Given the description of an element on the screen output the (x, y) to click on. 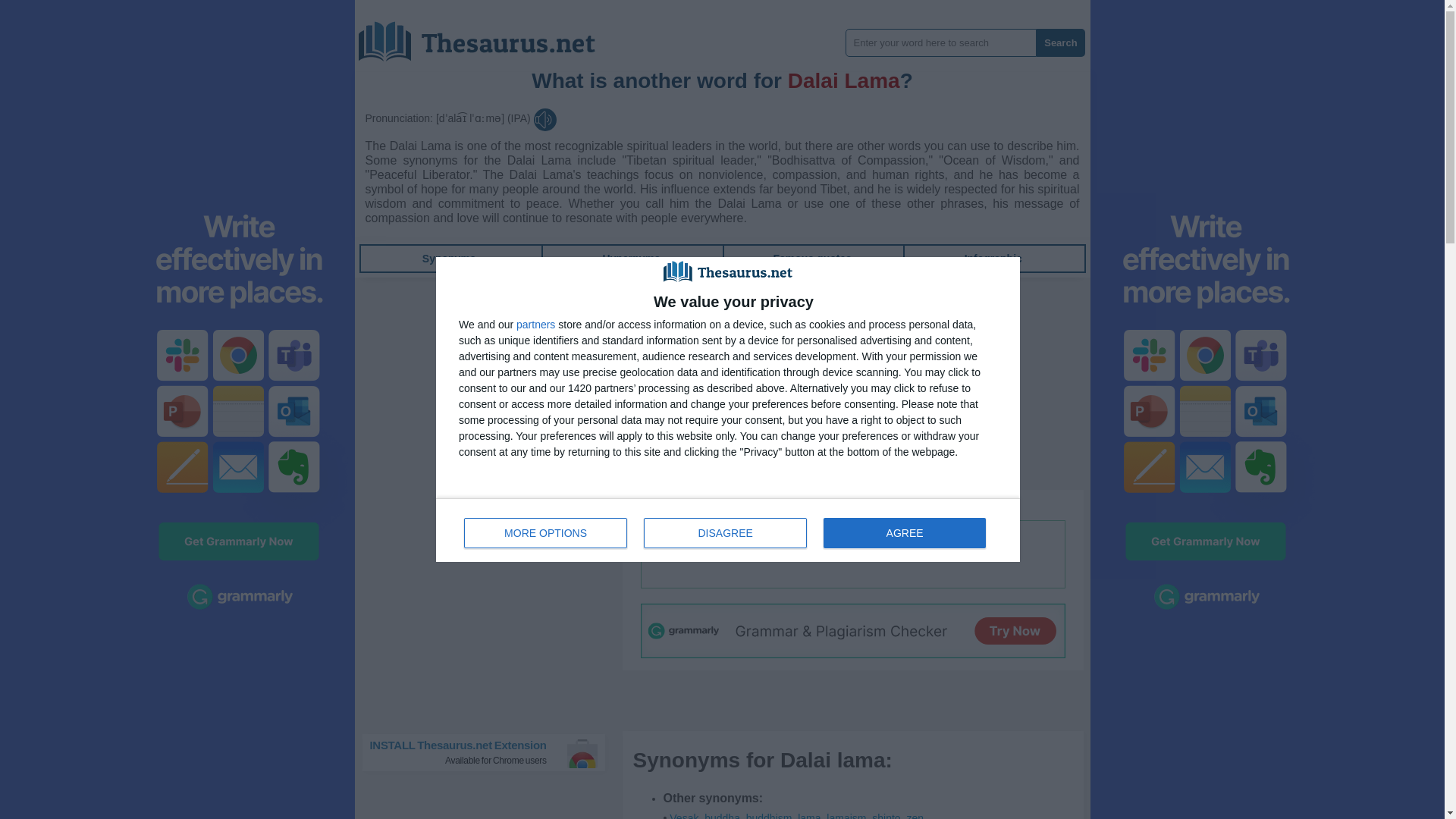
Infographic (992, 258)
lamaism (846, 815)
buddhism (489, 752)
Synonyms for Dalai lama (768, 815)
Synonyms for Dalai lama (721, 815)
Synonyms for Dalai lama (846, 815)
Infographic (809, 815)
Synonyms for Dalai lama (992, 258)
Search (768, 815)
Synonyms for Dalai lama (1060, 42)
lama (885, 815)
click here (809, 815)
MORE OPTIONS (875, 504)
Synonyms (545, 532)
